Given the description of an element on the screen output the (x, y) to click on. 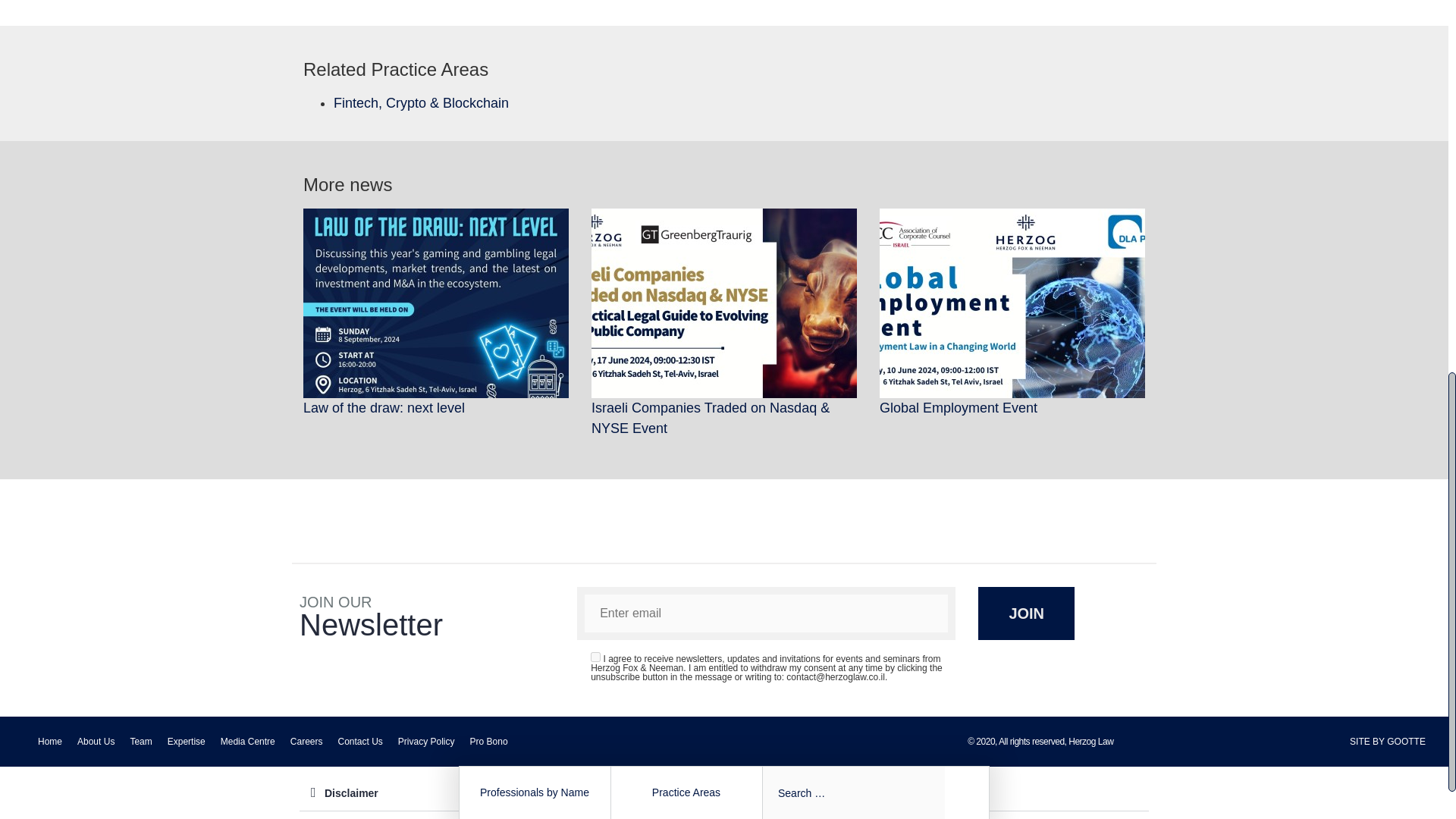
Join (1026, 613)
